Given the description of an element on the screen output the (x, y) to click on. 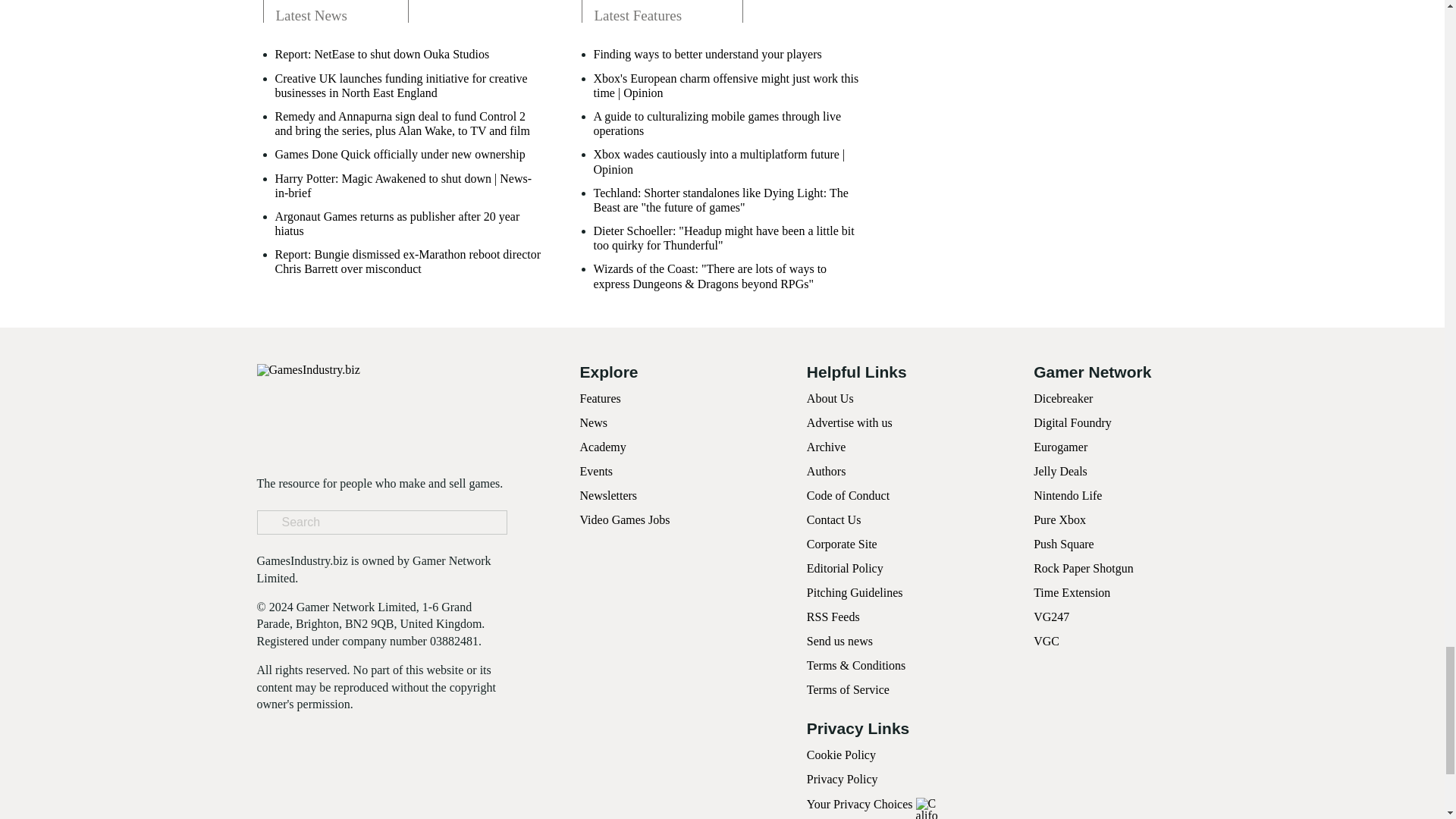
Newsletters (608, 495)
Report: NetEase to shut down Ouka Studios (382, 53)
Games Done Quick officially under new ownership (399, 154)
Academy (602, 446)
News (593, 422)
About Us (829, 398)
Video Games Jobs (624, 519)
Features (599, 398)
